Given the description of an element on the screen output the (x, y) to click on. 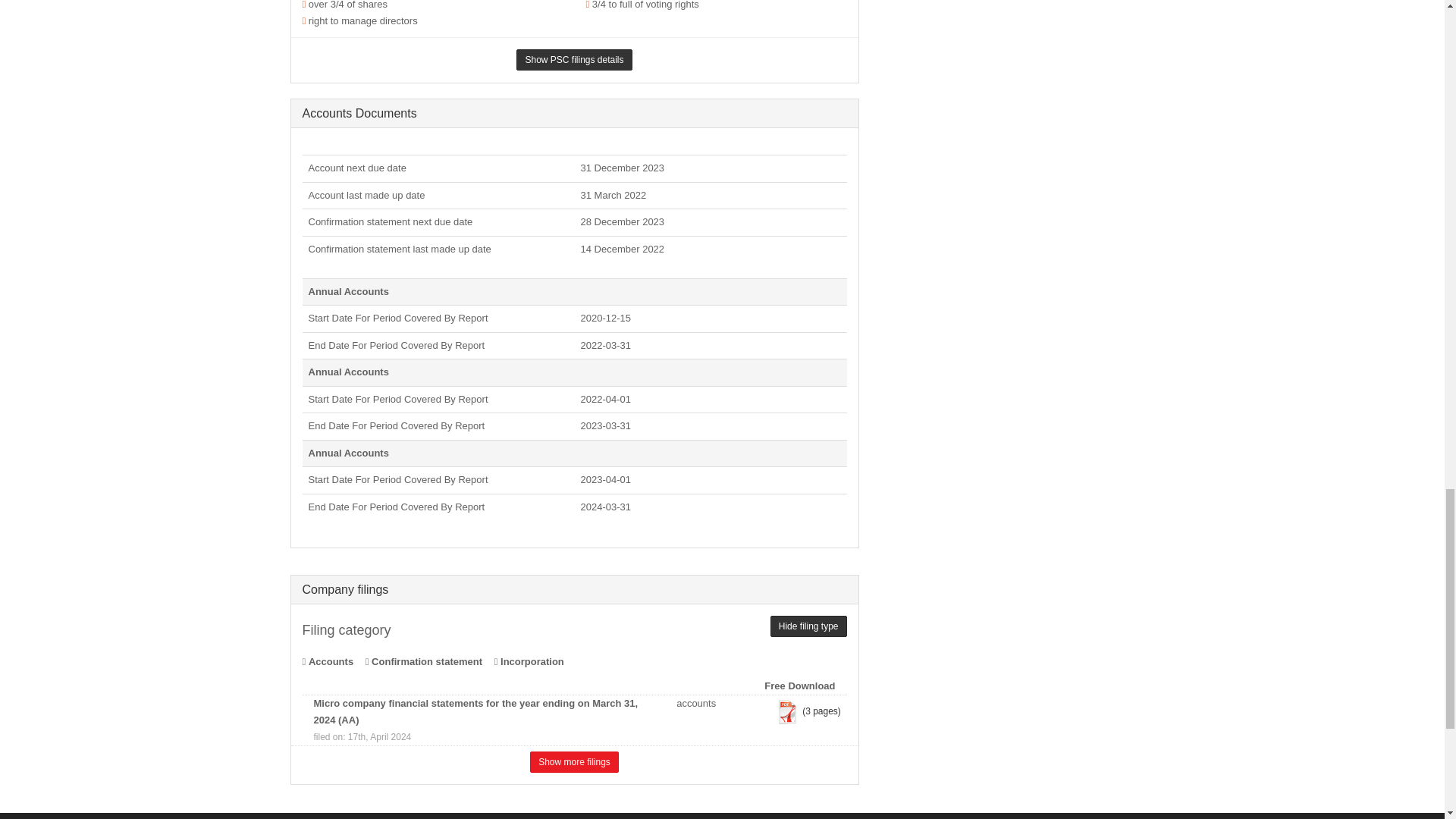
Download the filing (787, 711)
Show PSC filings details (573, 59)
Show more filings (573, 762)
